Given the description of an element on the screen output the (x, y) to click on. 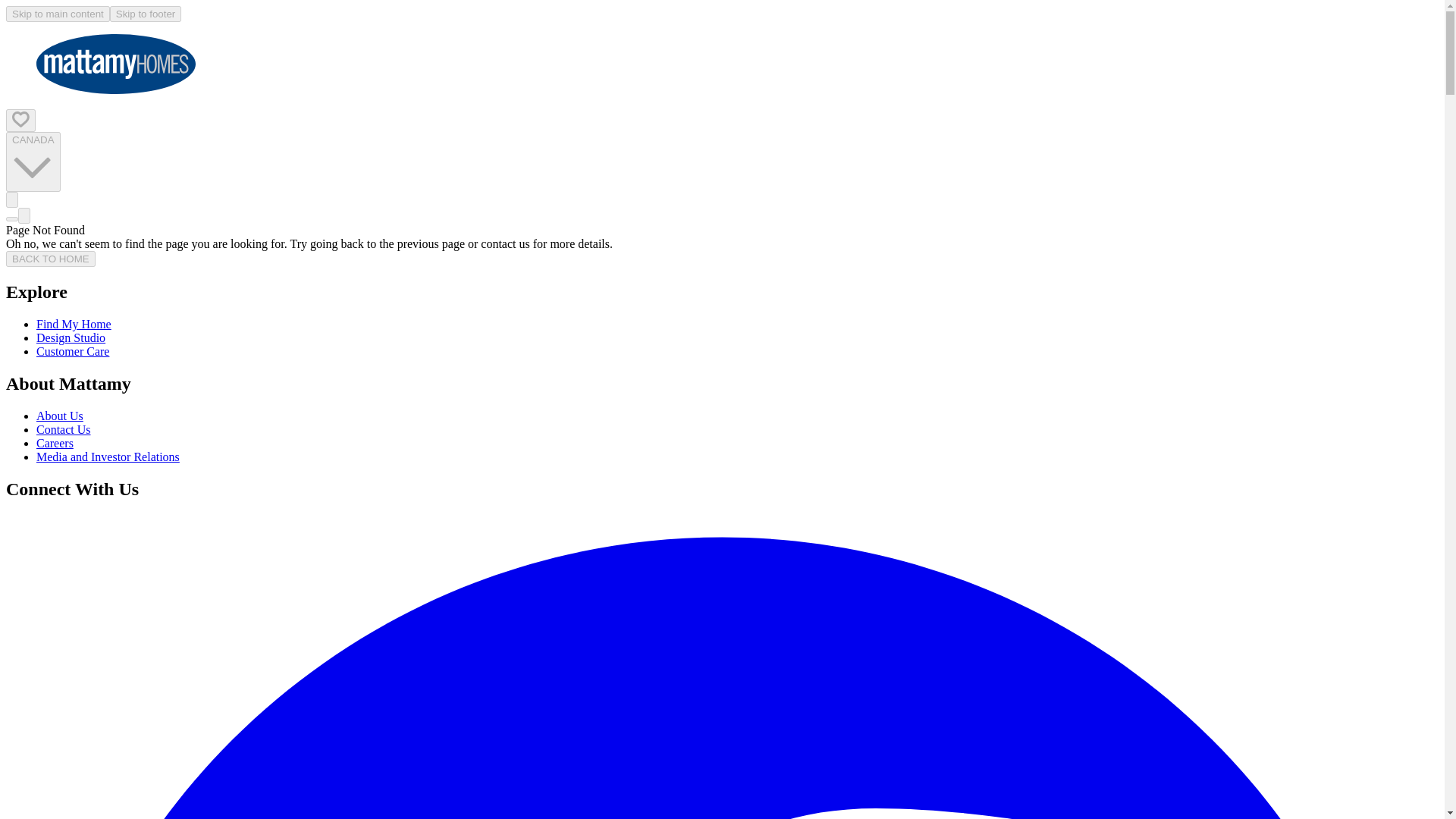
Skip to main content (57, 13)
BACK TO HOME (50, 258)
Design Studio (70, 337)
Customer Care (72, 350)
About Us (59, 415)
Find My Home (74, 323)
Favorite Icon (20, 119)
Favorite Icon (19, 119)
Careers (55, 442)
Contact Us (63, 429)
